Given the description of an element on the screen output the (x, y) to click on. 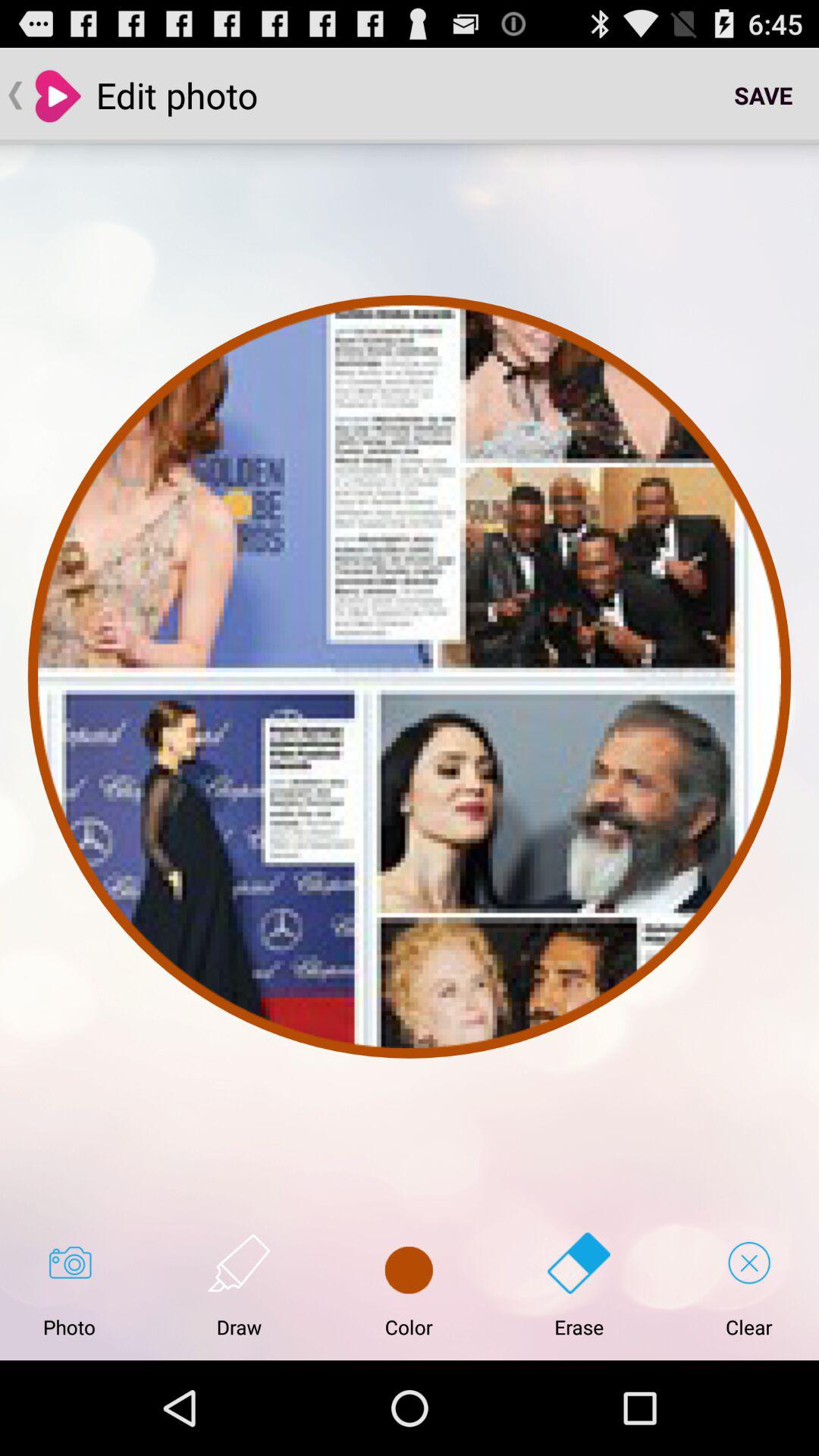
choose draw button (238, 1285)
